Given the description of an element on the screen output the (x, y) to click on. 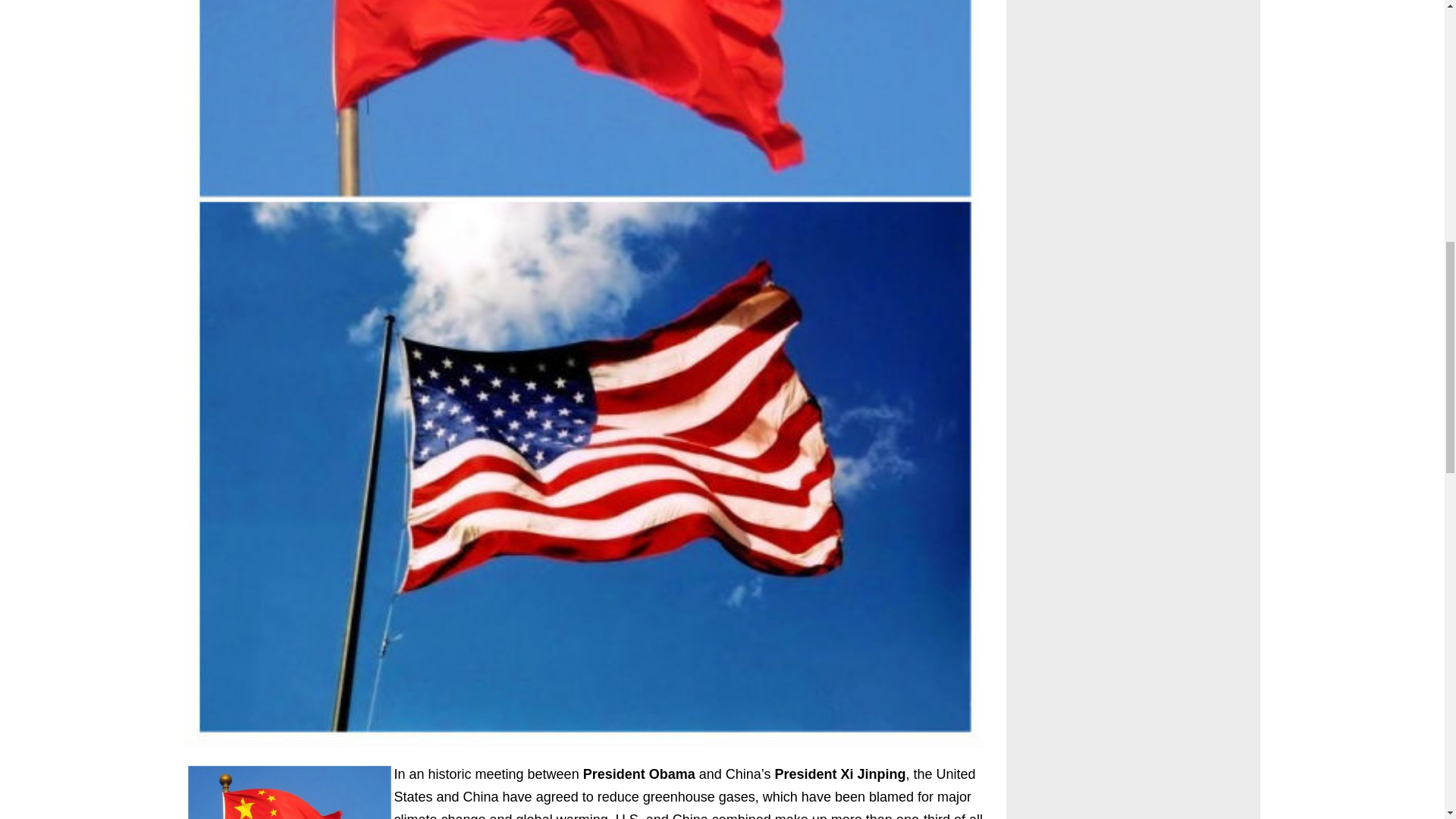
President Obama President Xi Jinping (288, 790)
